Given the description of an element on the screen output the (x, y) to click on. 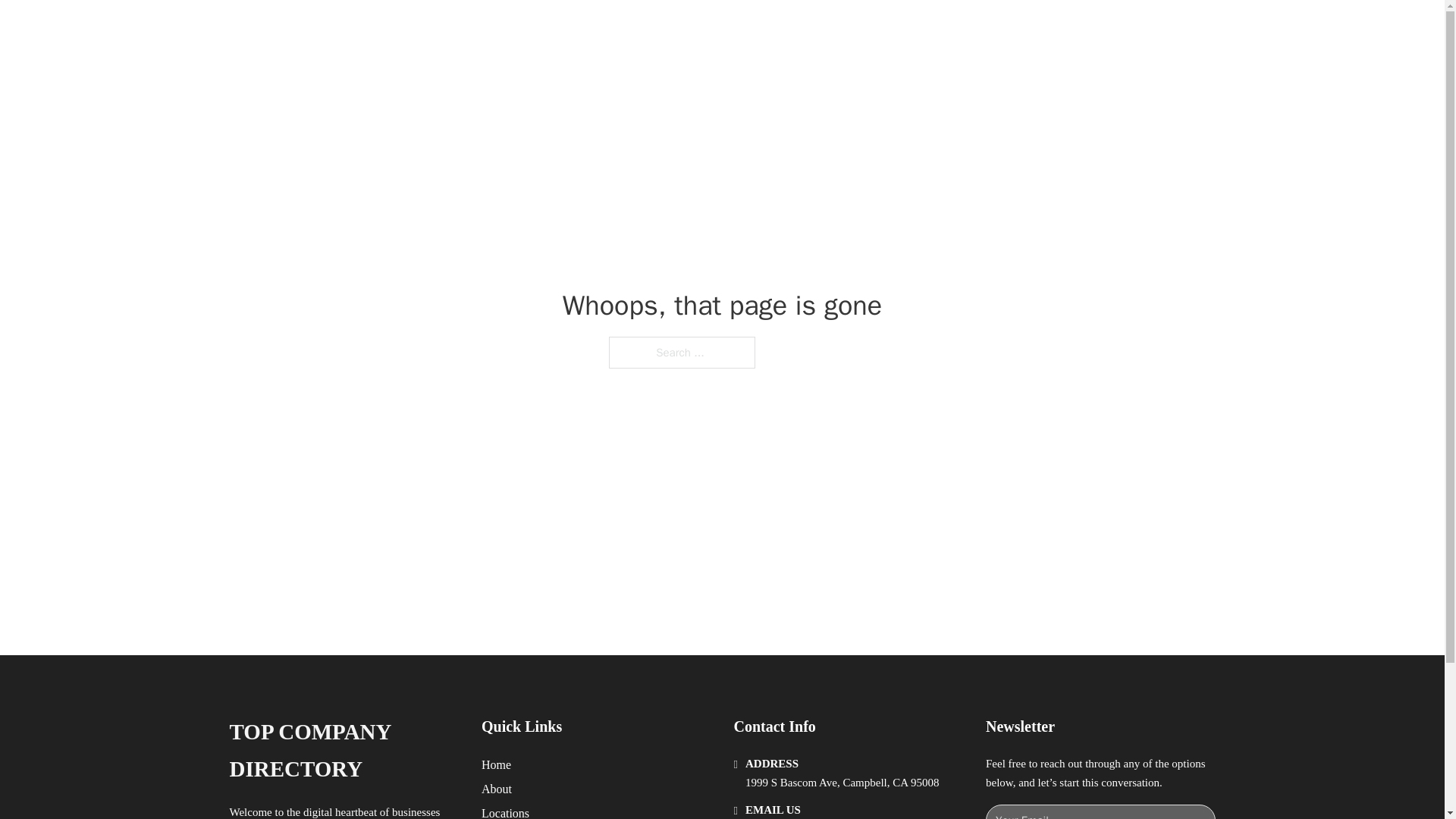
Home (496, 764)
About (496, 788)
HOME (919, 29)
TOP COMPANY DIRECTORY (343, 750)
TOP COMPANY DIRECTORY (441, 28)
LOCATIONS (990, 29)
Locations (505, 811)
